Given the description of an element on the screen output the (x, y) to click on. 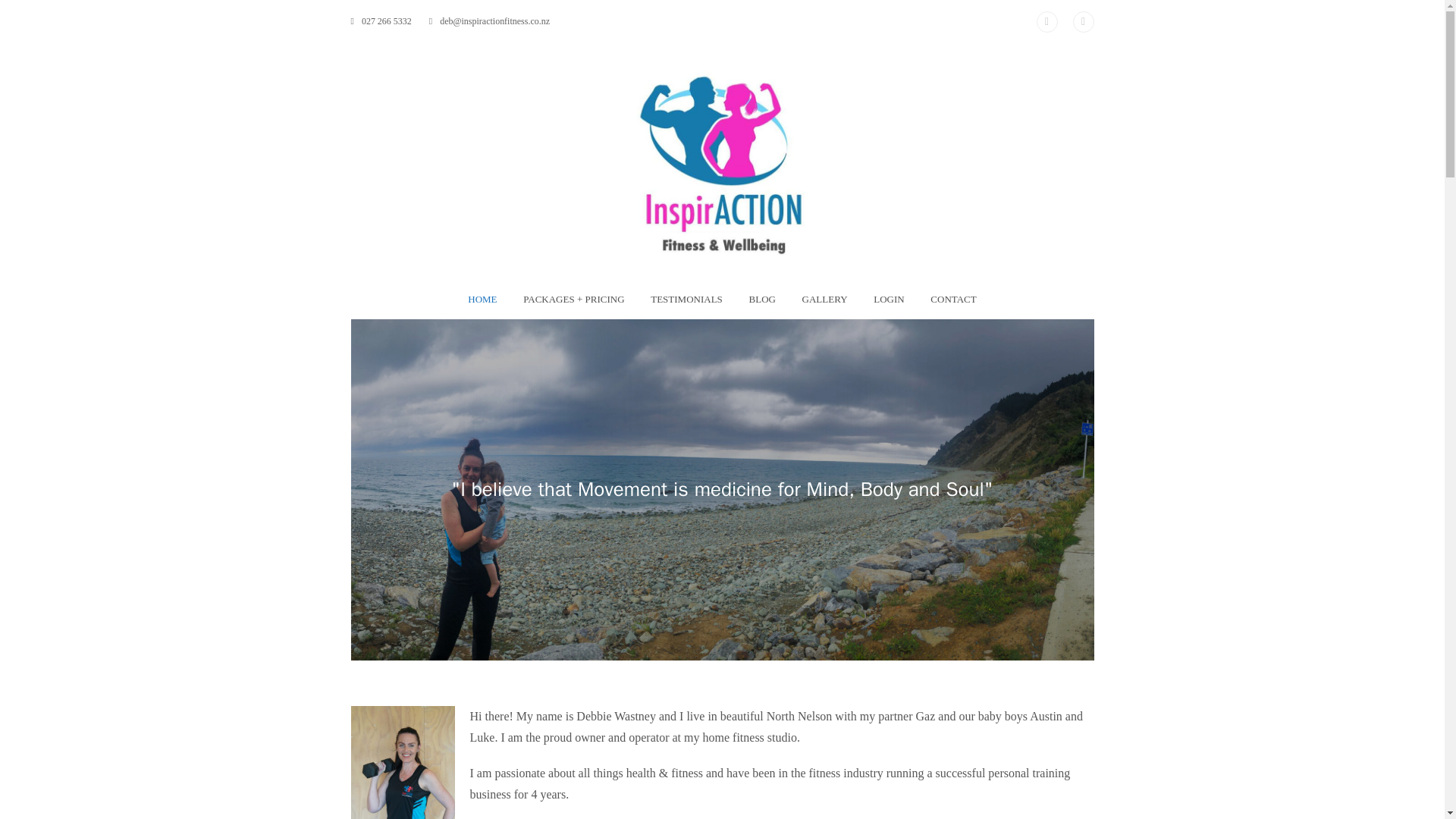
Facebook (1082, 21)
HOME (482, 299)
TESTIMONIALS (686, 299)
Instagram (1046, 21)
GALLERY (824, 299)
BLOG (761, 299)
CONTACT (953, 299)
LOGIN (888, 299)
Facebook (1082, 21)
Instagram (1046, 21)
